Given the description of an element on the screen output the (x, y) to click on. 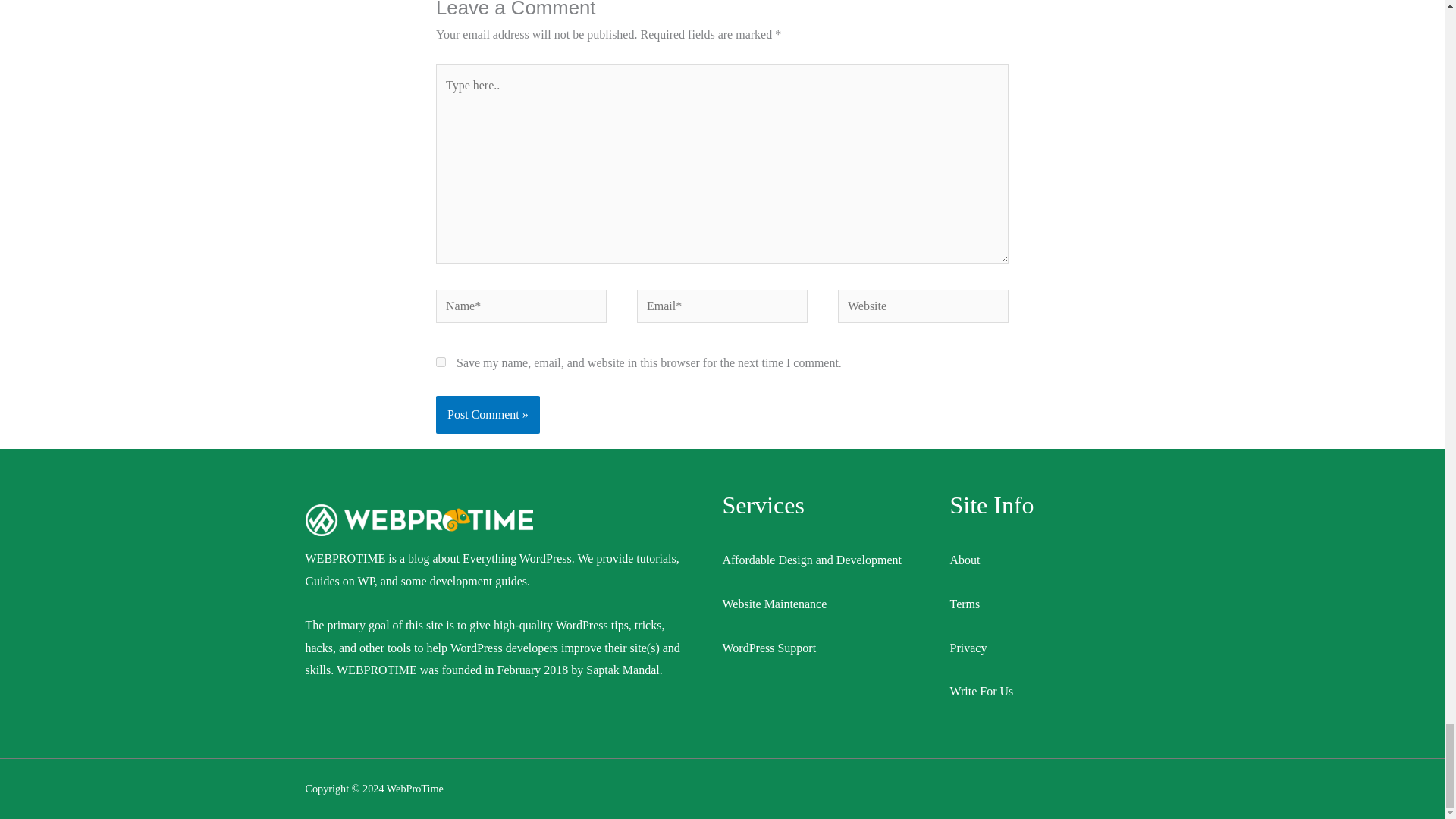
yes (440, 361)
